Given the description of an element on the screen output the (x, y) to click on. 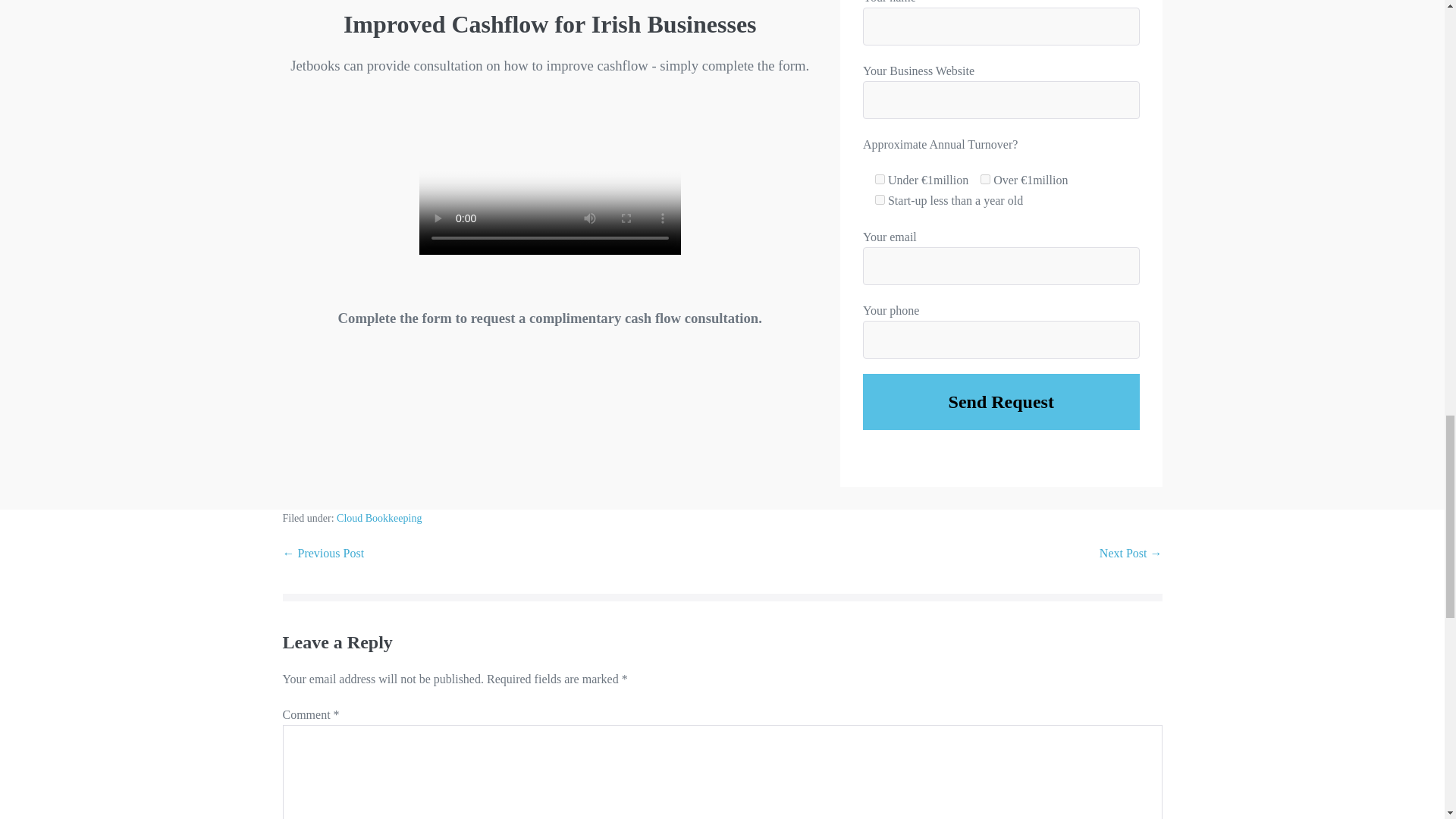
Send Request (1001, 401)
Start-up less than a year old (880, 199)
Cloud Bookkeeping (379, 518)
Send Request (1001, 401)
